Given the description of an element on the screen output the (x, y) to click on. 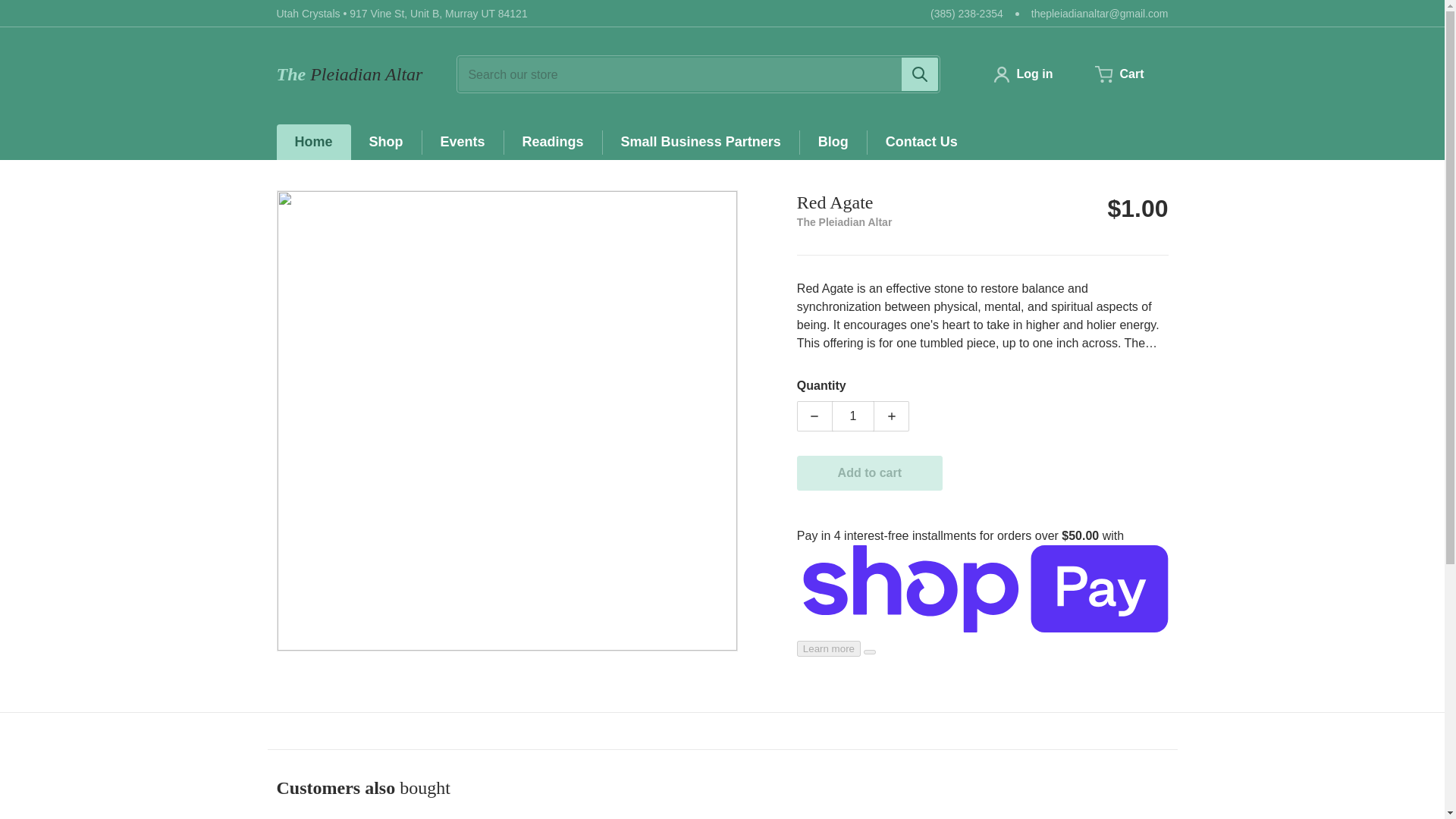
Home (313, 141)
Call Us (966, 13)
Readings (552, 141)
1 (853, 416)
Cart (1118, 74)
Contact Us (921, 141)
Skip to content (48, 6)
Log in (1022, 74)
Events (462, 141)
